Given the description of an element on the screen output the (x, y) to click on. 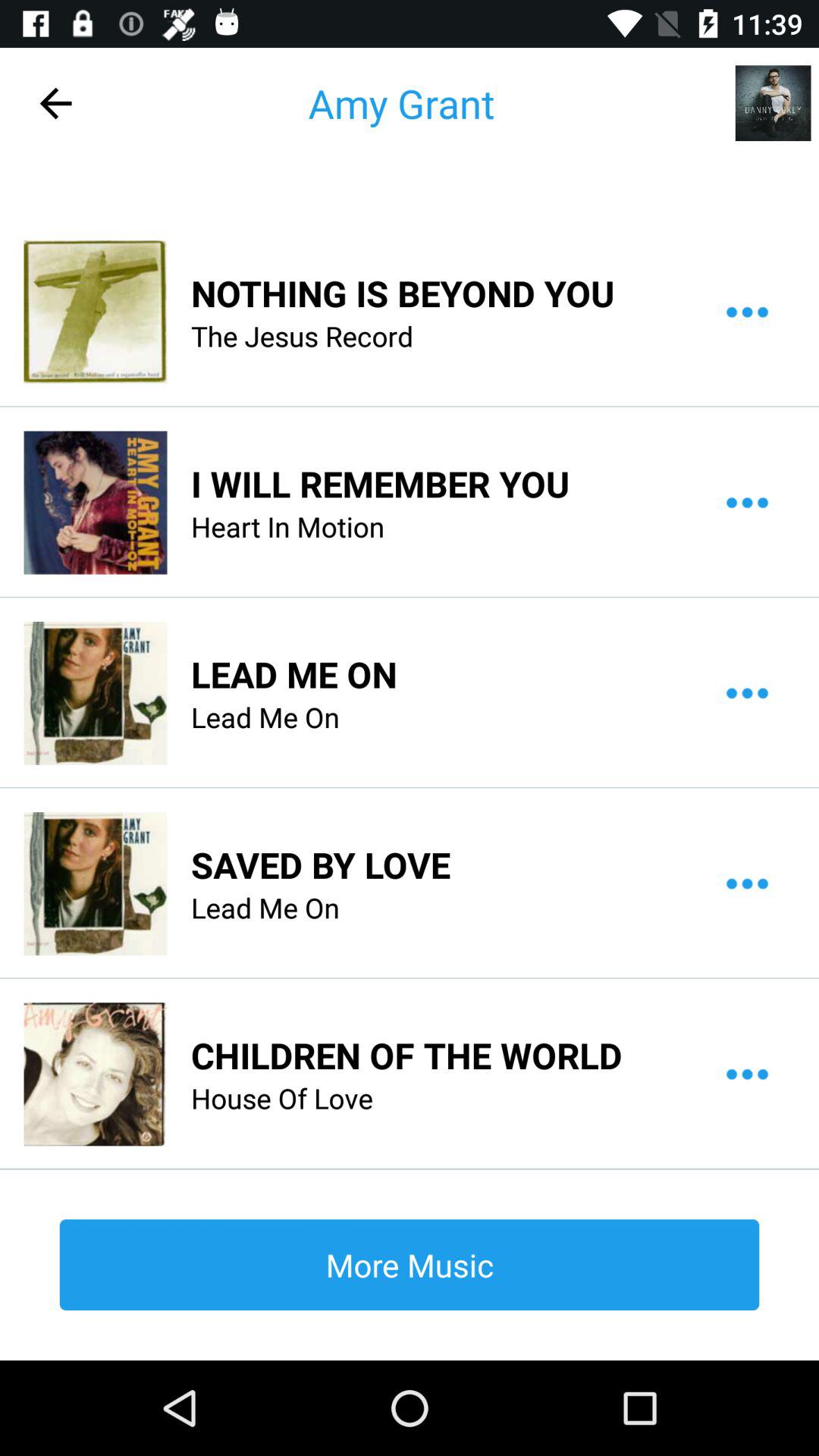
swipe to house of love item (282, 1098)
